Given the description of an element on the screen output the (x, y) to click on. 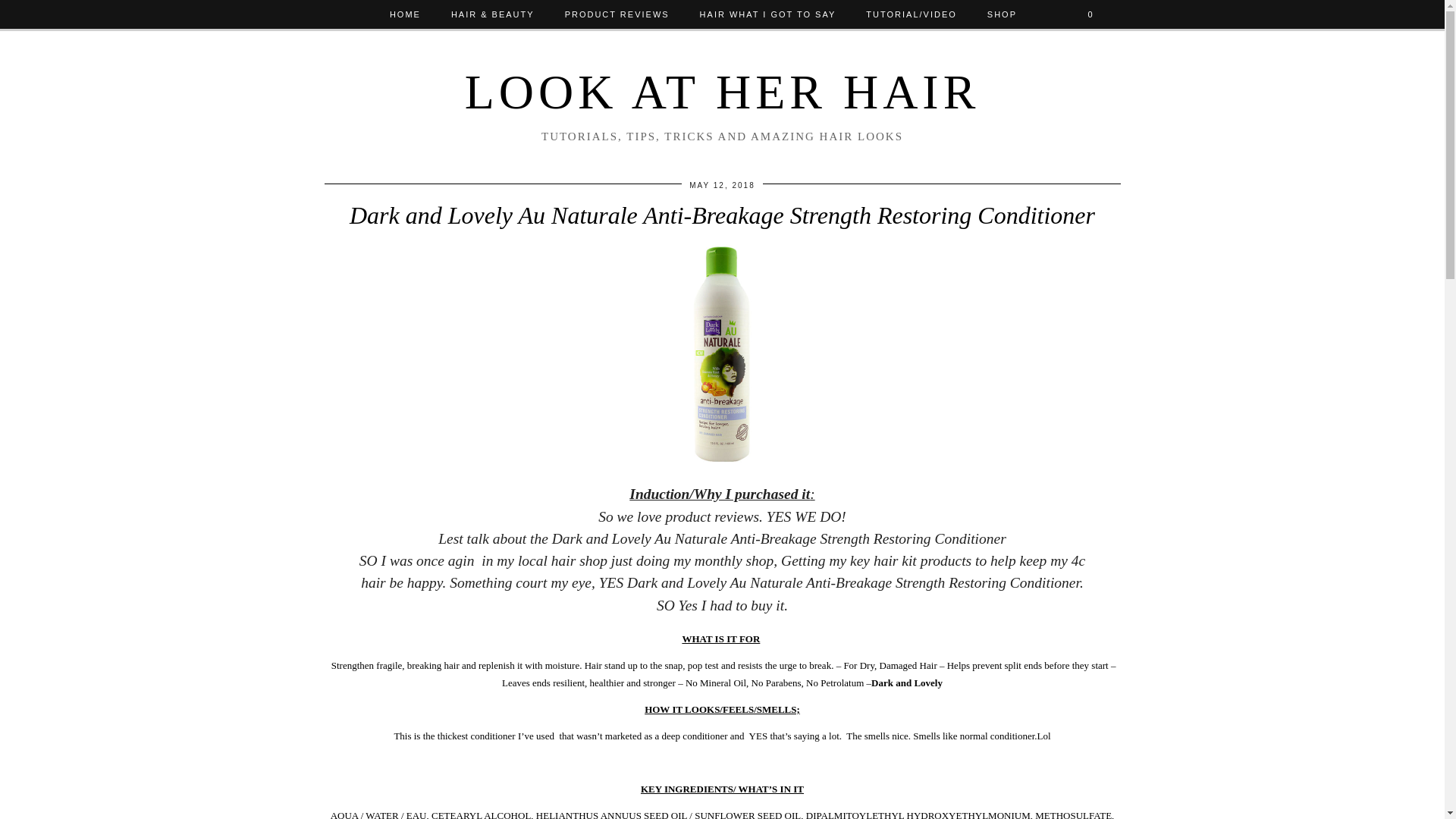
Look At Her Hair (721, 91)
SHOP (1002, 14)
HAIR WHAT I GOT TO SAY (767, 14)
PRODUCT REVIEWS (617, 14)
HOME (404, 14)
LOOK AT HER HAIR (721, 91)
